Given the description of an element on the screen output the (x, y) to click on. 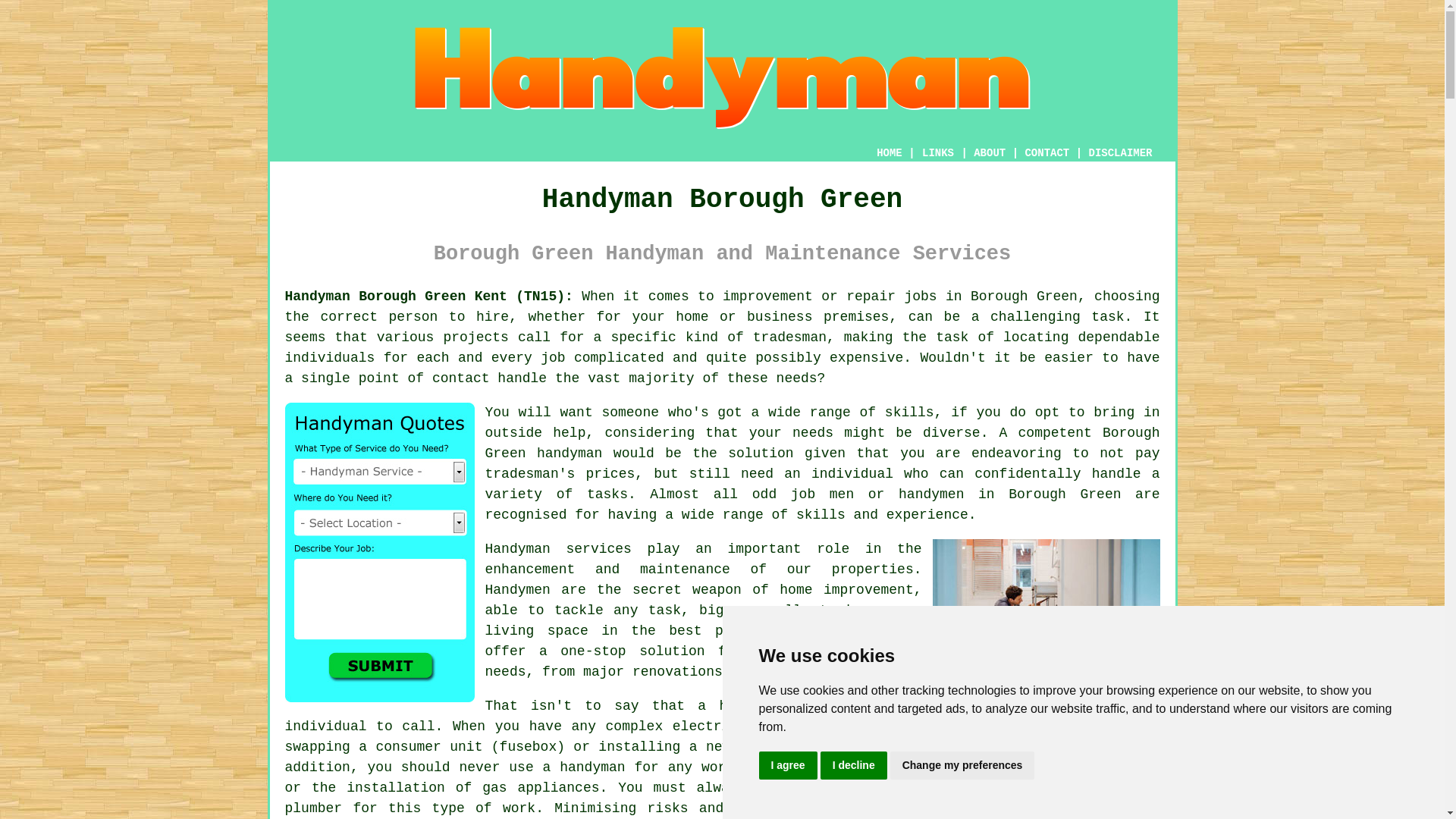
HOME (889, 152)
projects (475, 337)
I decline (853, 765)
handyman (569, 453)
Change my preferences (962, 765)
I agree (787, 765)
LINKS (938, 152)
